Given the description of an element on the screen output the (x, y) to click on. 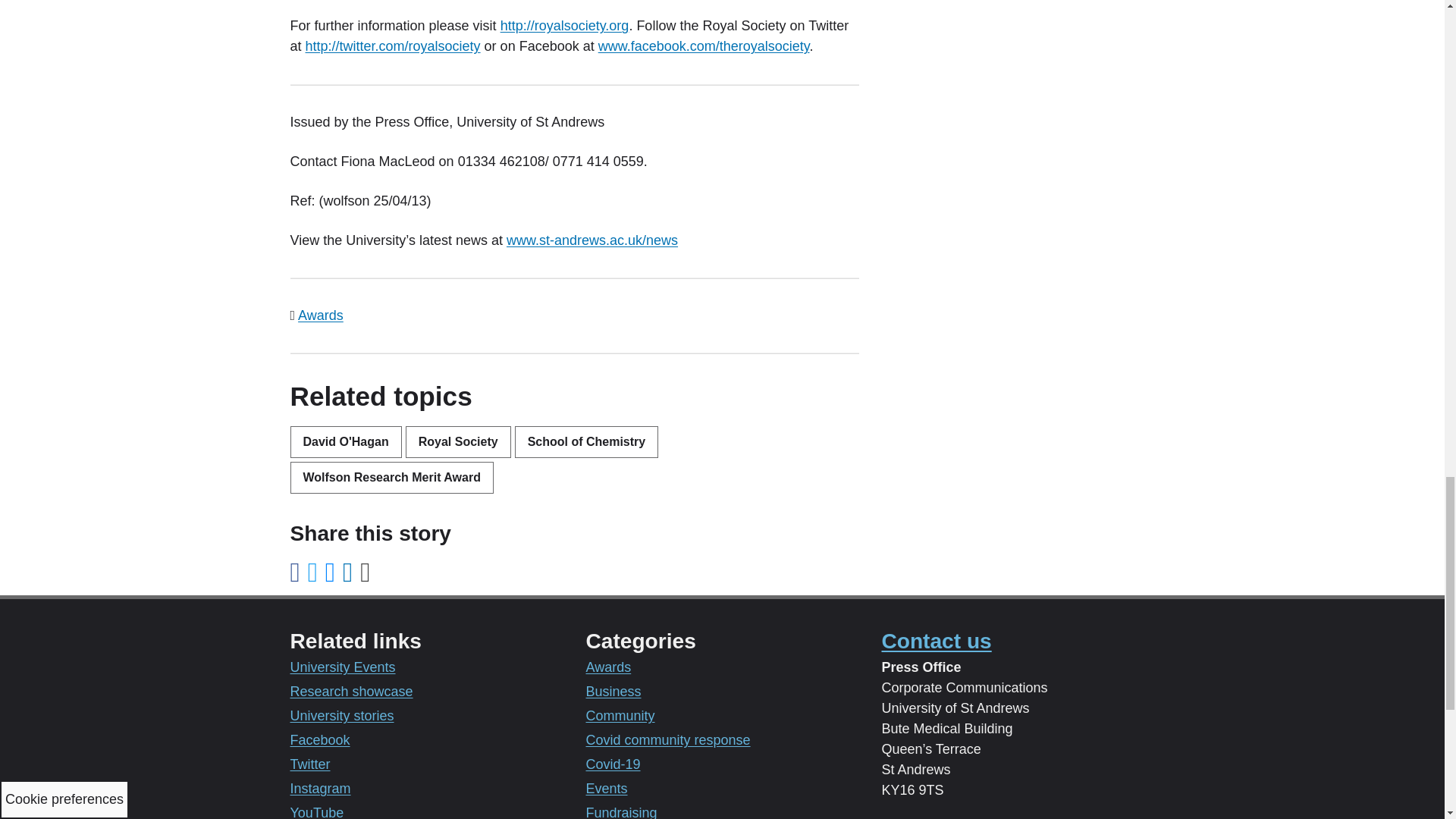
Awards (320, 314)
Wolfson Research Merit Award (391, 477)
David O'Hagan (345, 441)
School of Chemistry (587, 441)
Royal Society (458, 441)
